Given the description of an element on the screen output the (x, y) to click on. 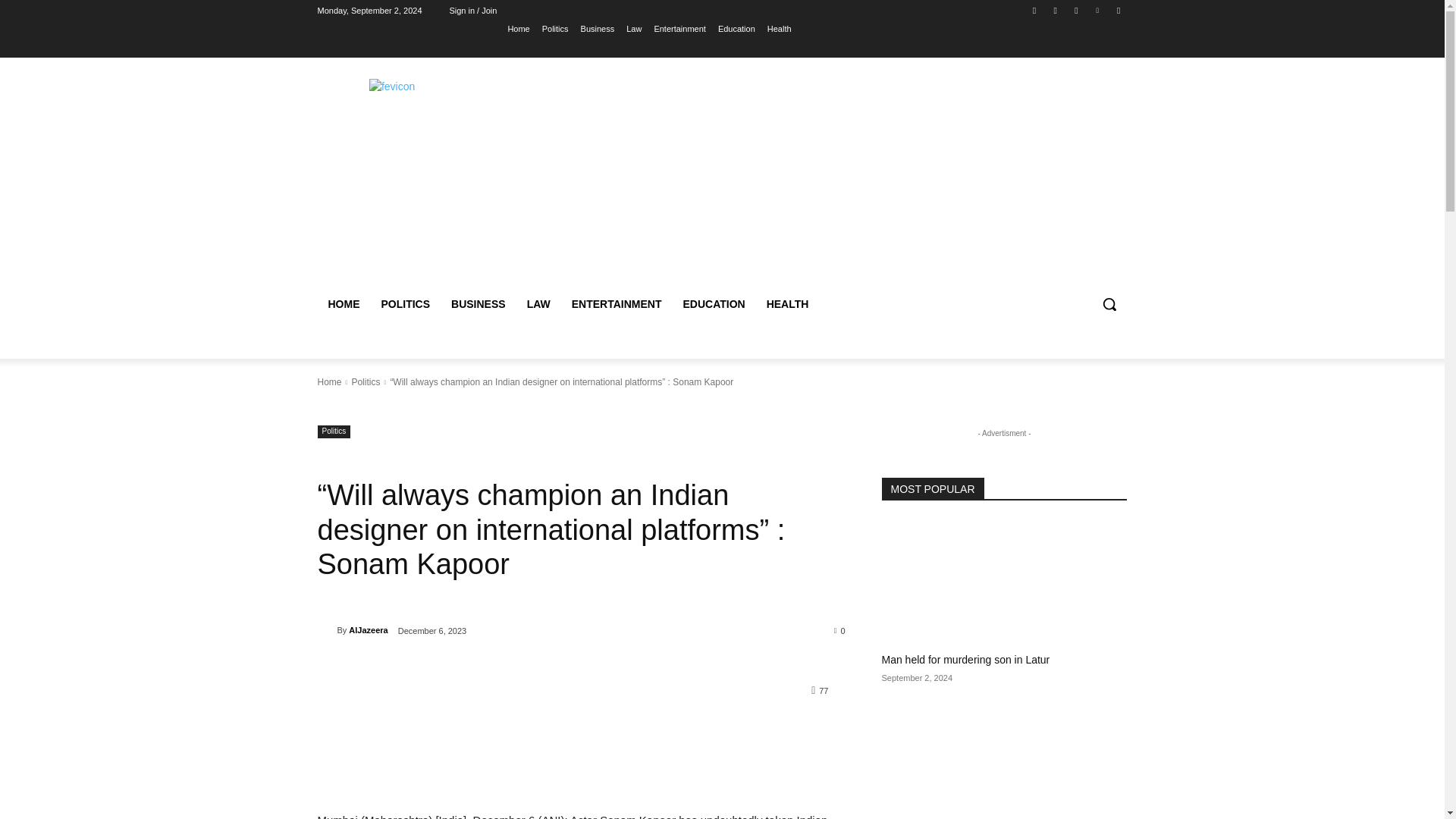
LAW (538, 303)
View all posts in Politics (365, 381)
Home (328, 381)
Politics (555, 28)
BUSINESS (478, 303)
Instagram (1055, 9)
AlJazeera (326, 630)
ENTERTAINMENT (616, 303)
Politics (365, 381)
Business (597, 28)
